Given the description of an element on the screen output the (x, y) to click on. 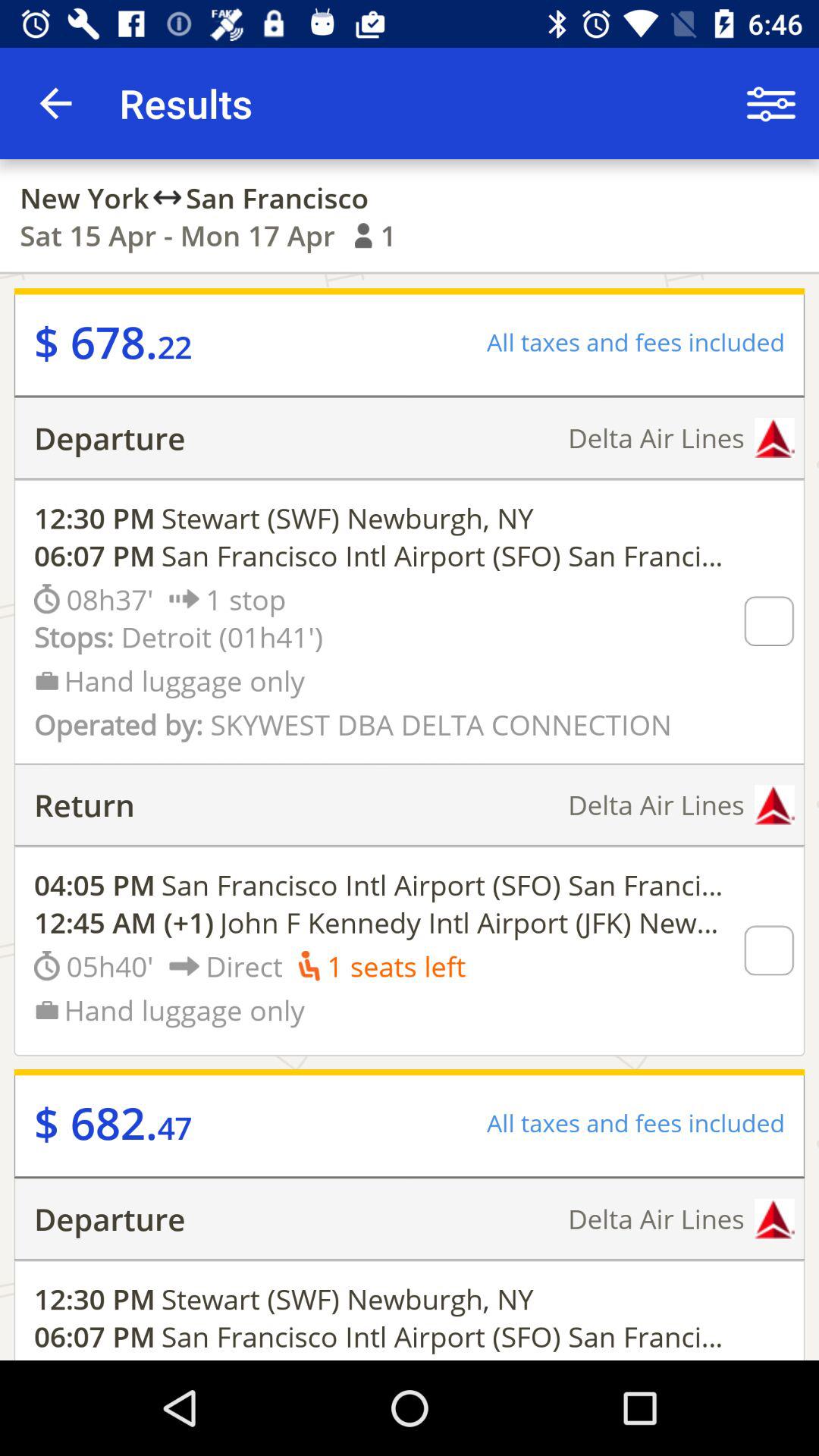
launch the icon next to the results item (55, 103)
